Given the description of an element on the screen output the (x, y) to click on. 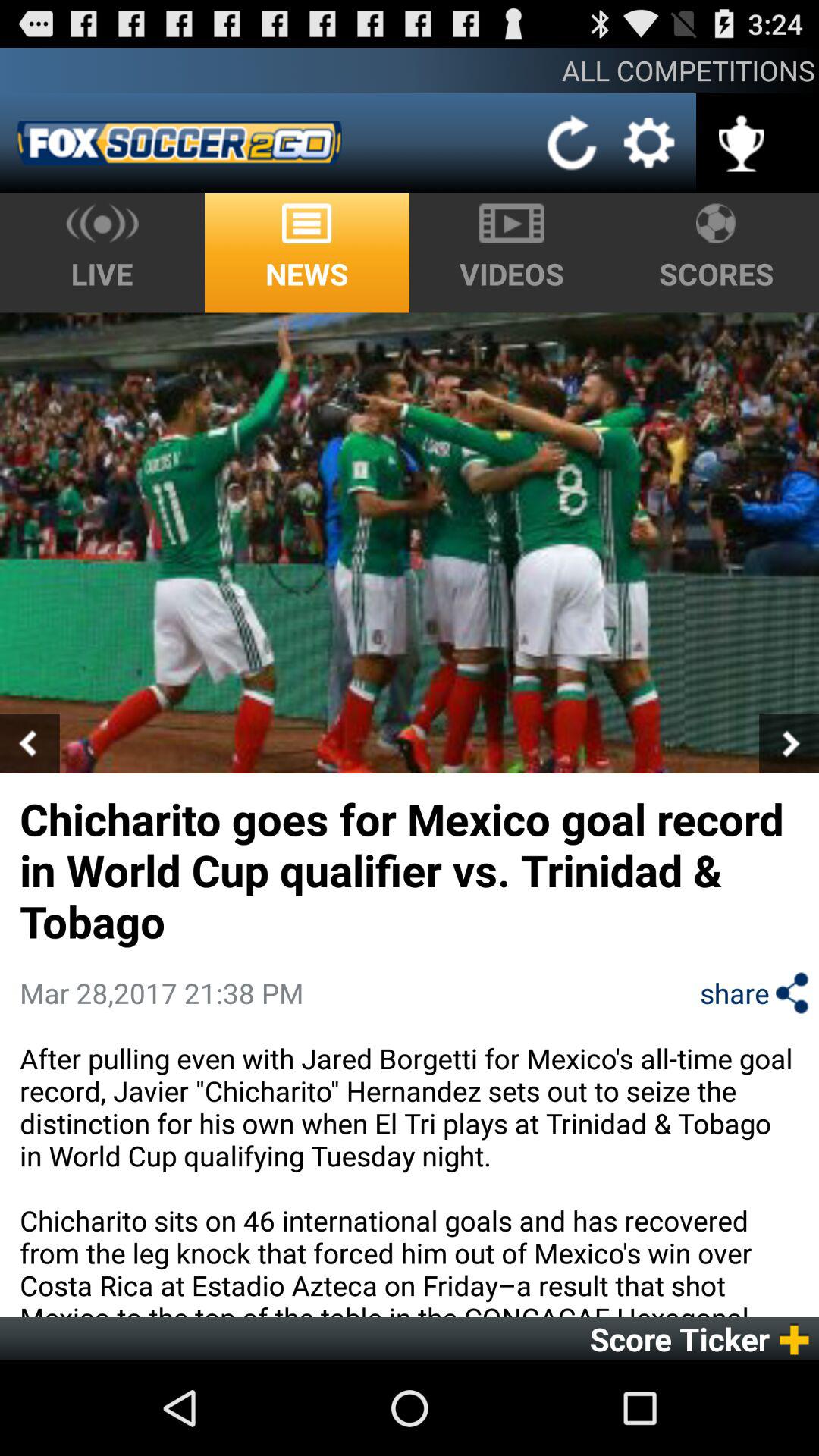
click the after pulling even icon (409, 1178)
